Given the description of an element on the screen output the (x, y) to click on. 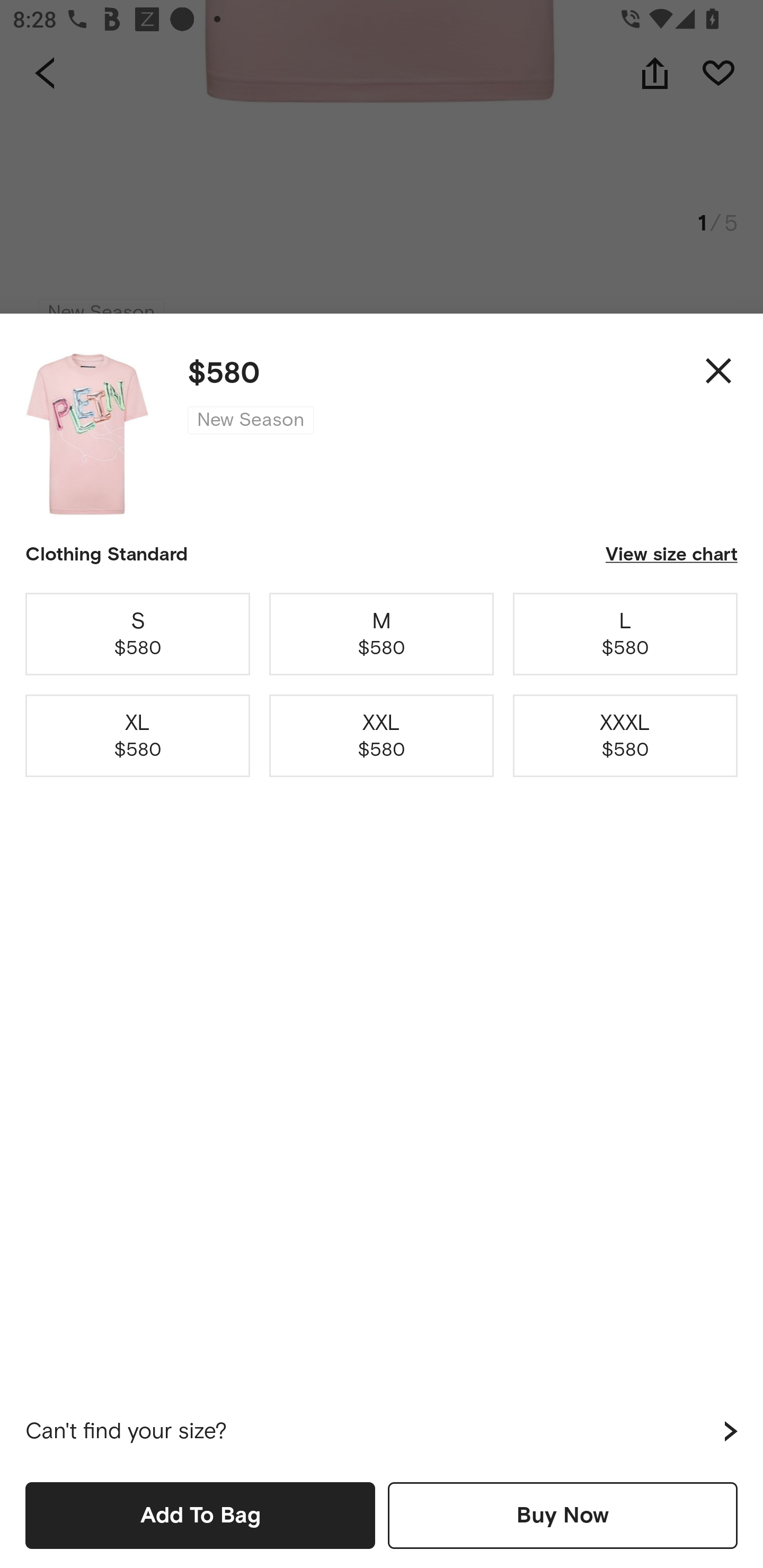
S $580 (137, 633)
M $580 (381, 633)
L $580 (624, 633)
XL $580 (137, 735)
XXL $580 (381, 735)
XXXL $580 (624, 735)
Can't find your size? (381, 1431)
Add To Bag (200, 1515)
Buy Now (562, 1515)
